Given the description of an element on the screen output the (x, y) to click on. 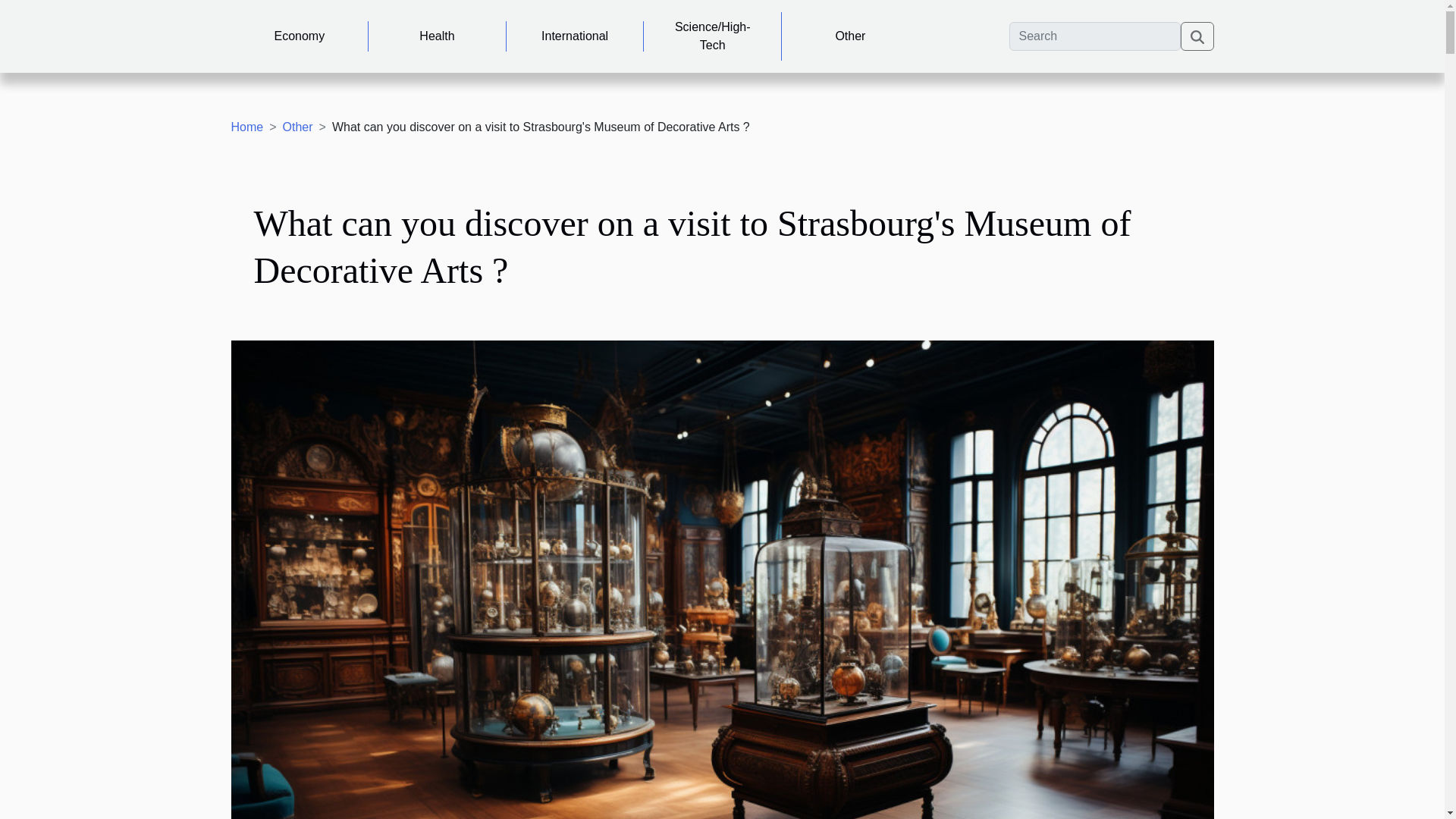
Other (297, 126)
International (574, 36)
Other (297, 126)
Economy (299, 36)
Home (246, 126)
Other (850, 36)
Health (437, 36)
